Given the description of an element on the screen output the (x, y) to click on. 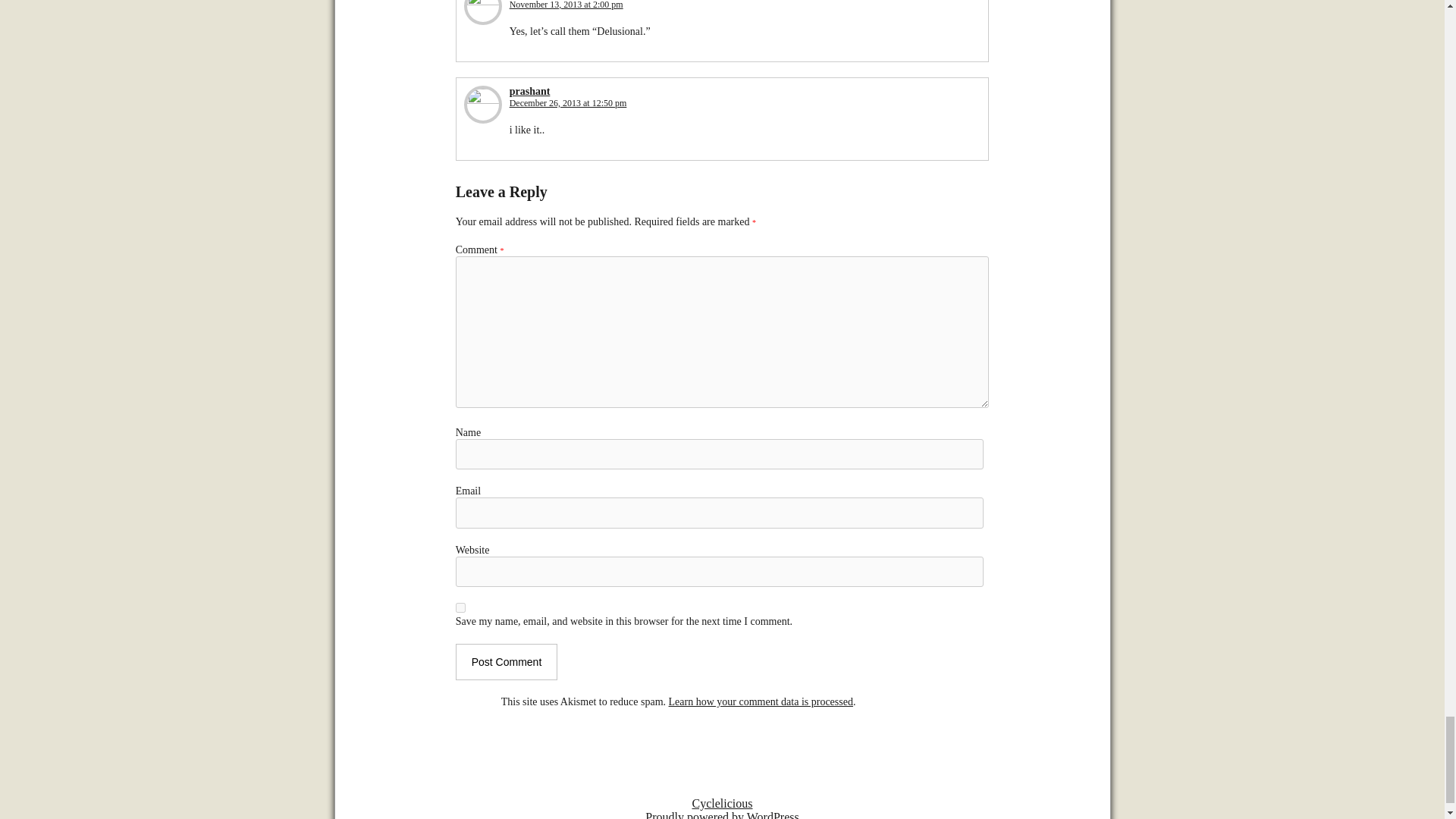
yes (460, 607)
Post Comment (506, 661)
